Given the description of an element on the screen output the (x, y) to click on. 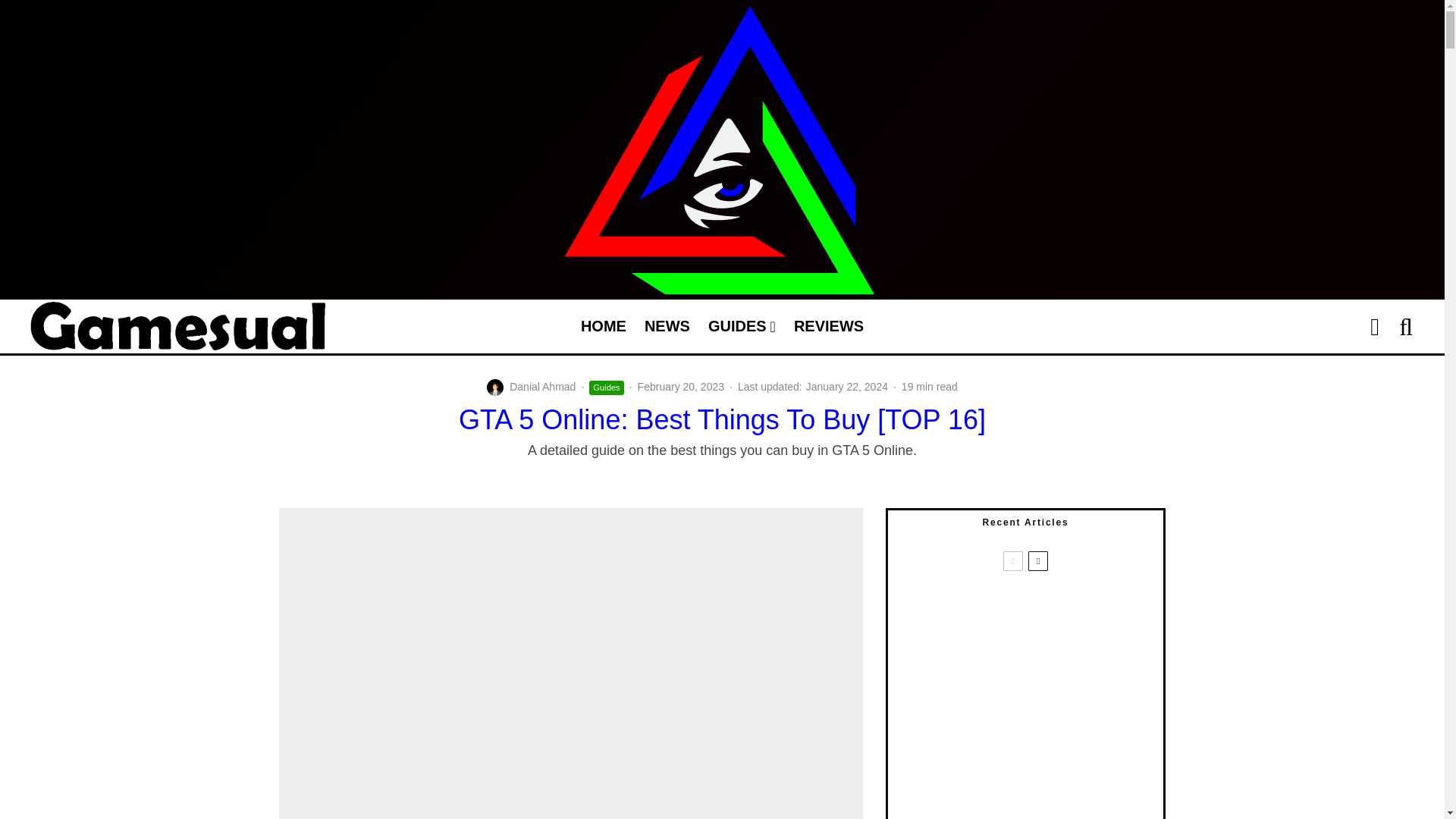
NEWS (666, 325)
Guides (606, 387)
HOME (603, 325)
REVIEWS (828, 325)
Danial Ahmad (542, 386)
GUIDES (741, 325)
